Given the description of an element on the screen output the (x, y) to click on. 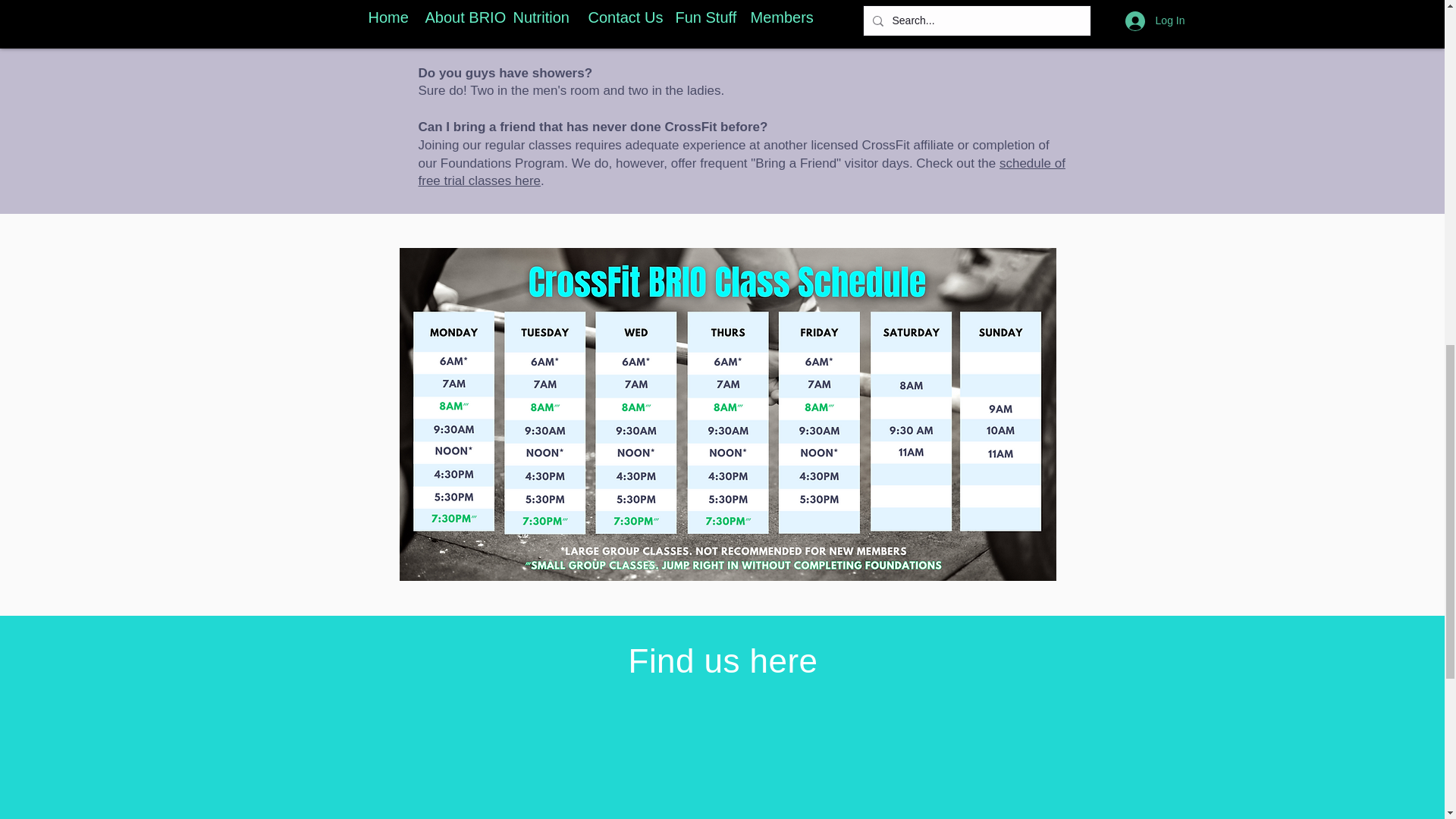
our team of awesome coaches (691, 36)
schedule of free trial classes here (742, 172)
